Given the description of an element on the screen output the (x, y) to click on. 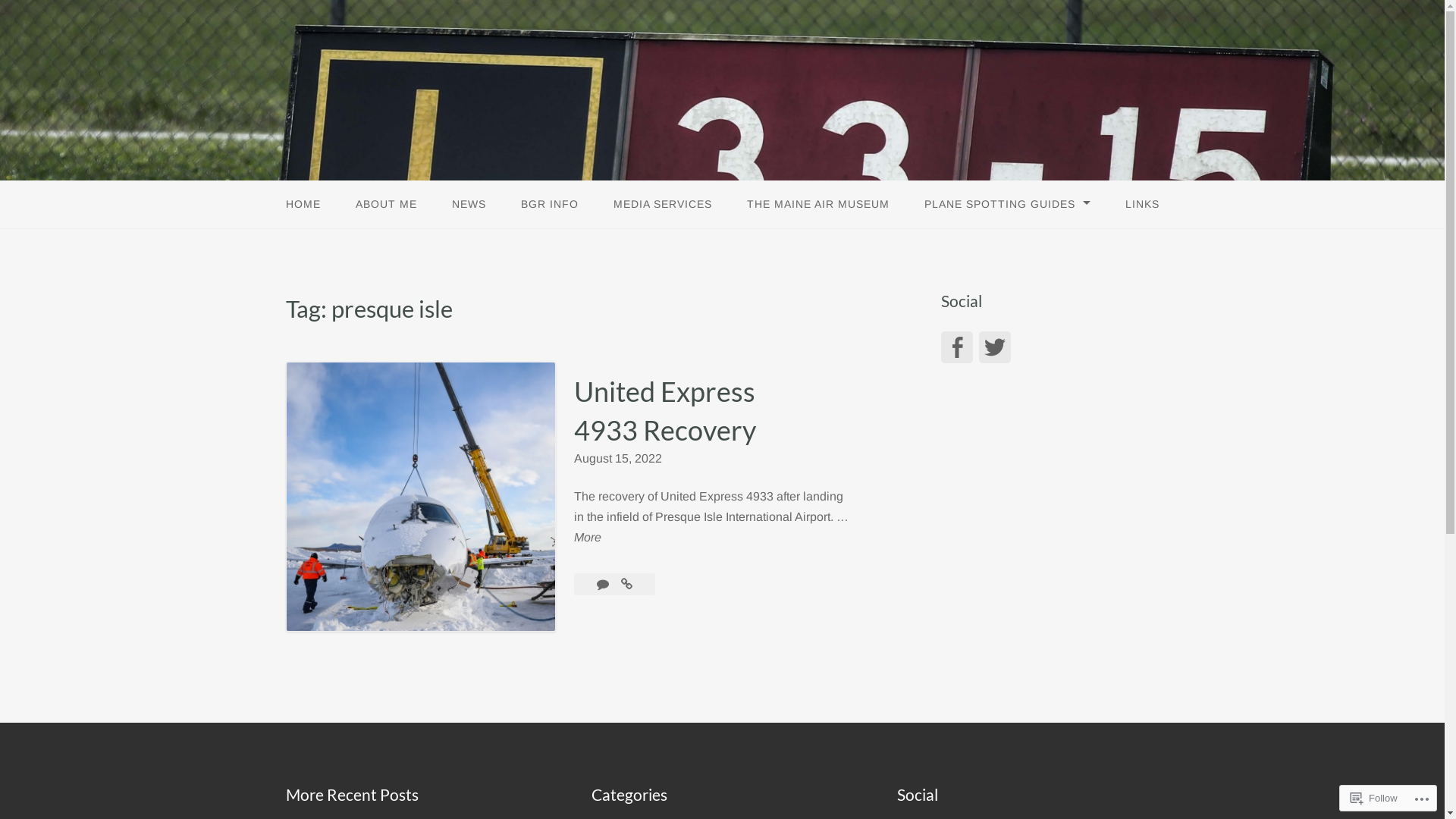
United Express 4933 Recovery Element type: text (664, 410)
LINKS Element type: text (1141, 204)
ABOUT ME Element type: text (386, 204)
More Element type: text (586, 537)
MEDIA SERVICES Element type: text (662, 204)
PLANE SPOTTING GUIDES Element type: text (1007, 204)
Follow Element type: text (1373, 797)
HOME Element type: text (302, 204)
THE MAINE AIR MUSEUM Element type: text (818, 204)
BGR INFO Element type: text (549, 204)
NEWS Element type: text (468, 204)
